Given the description of an element on the screen output the (x, y) to click on. 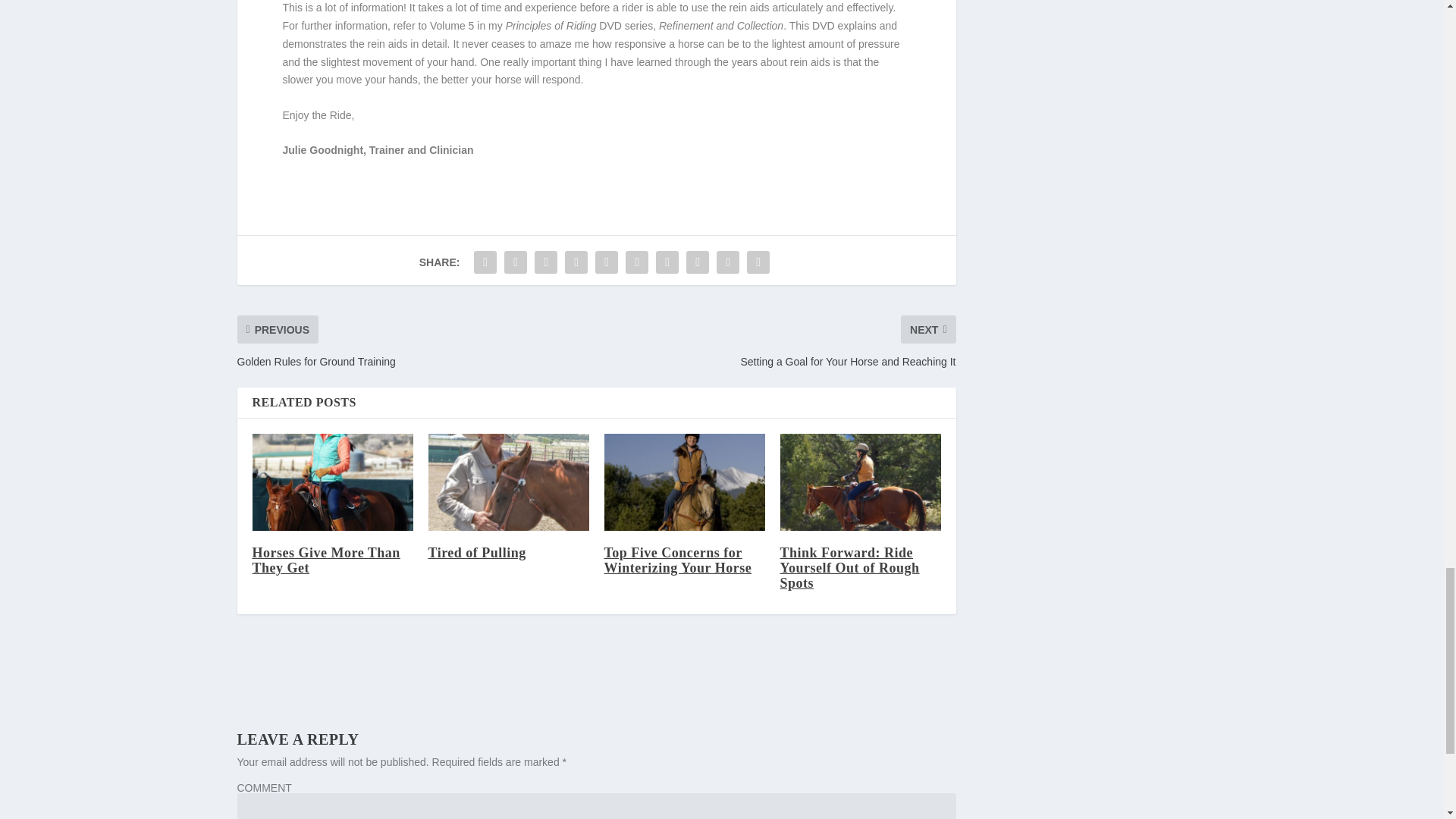
Share "Know Your Rein Aids" via Tumblr (575, 262)
Tired of Pulling (508, 481)
Share "Know Your Rein Aids" via Pinterest (606, 262)
Share "Know Your Rein Aids" via Facebook (485, 262)
Share "Know Your Rein Aids" via Print (757, 262)
Share "Know Your Rein Aids" via Twitter (515, 262)
Horses Give More Than They Get (331, 481)
Share "Know Your Rein Aids" via Stumbleupon (697, 262)
Share "Know Your Rein Aids" via Buffer (667, 262)
Share "Know Your Rein Aids" via LinkedIn (636, 262)
